Given the description of an element on the screen output the (x, y) to click on. 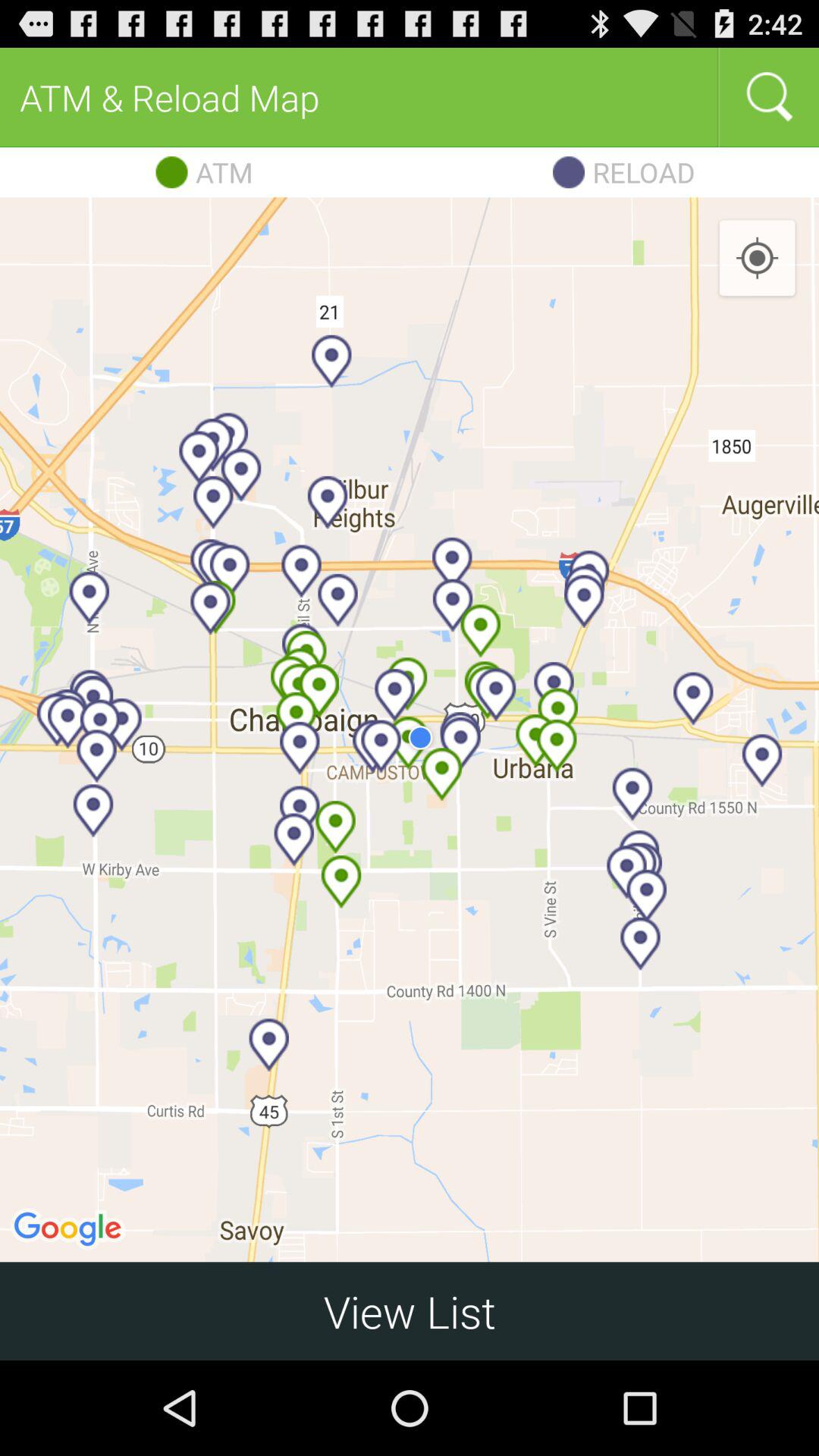
tap icon above view list item (409, 729)
